Given the description of an element on the screen output the (x, y) to click on. 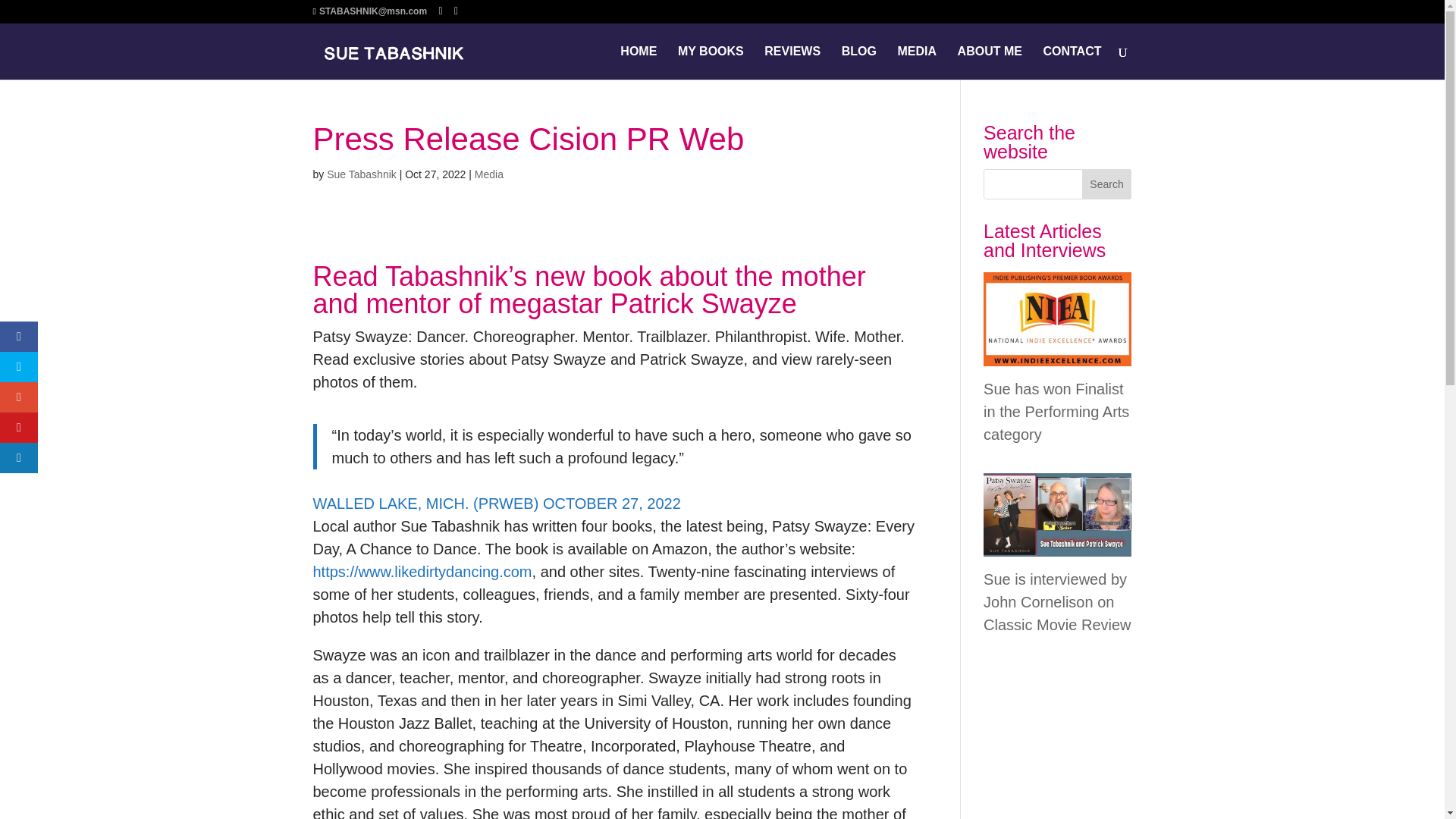
HOME (638, 62)
REVIEWS (792, 62)
Posts by Sue Tabashnik (361, 174)
MY BOOKS (711, 62)
Media (488, 174)
BLOG (858, 62)
ABOUT ME (990, 62)
Search (1106, 183)
MEDIA (916, 62)
Sue Tabashnik (361, 174)
Search (1106, 183)
CONTACT (1071, 62)
Sue has won Finalist in the Performing Arts category (1056, 411)
